Given the description of an element on the screen output the (x, y) to click on. 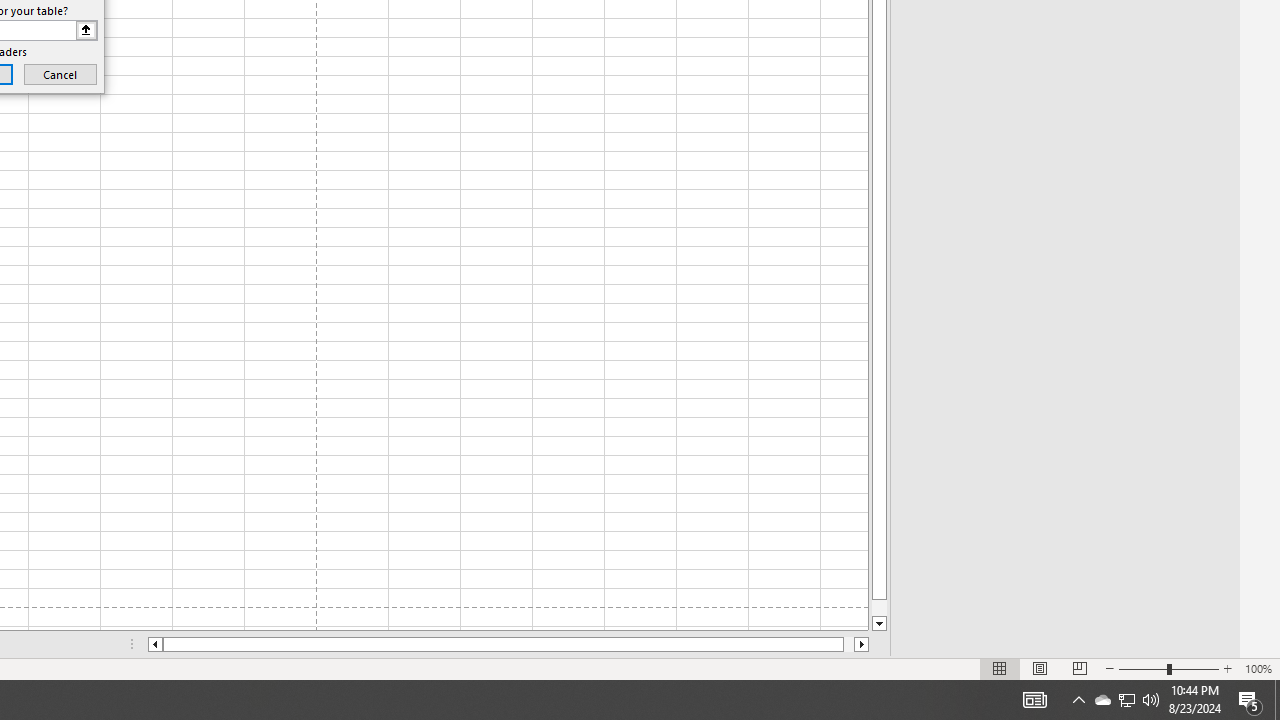
Normal (1000, 668)
Class: NetUIScrollBar (507, 644)
Line down (879, 624)
Column left (153, 644)
Page right (848, 644)
Column right (861, 644)
Page down (879, 607)
Zoom Out (1142, 668)
Zoom In (1227, 668)
Page Break Preview (1079, 668)
Zoom (1168, 668)
